Given the description of an element on the screen output the (x, y) to click on. 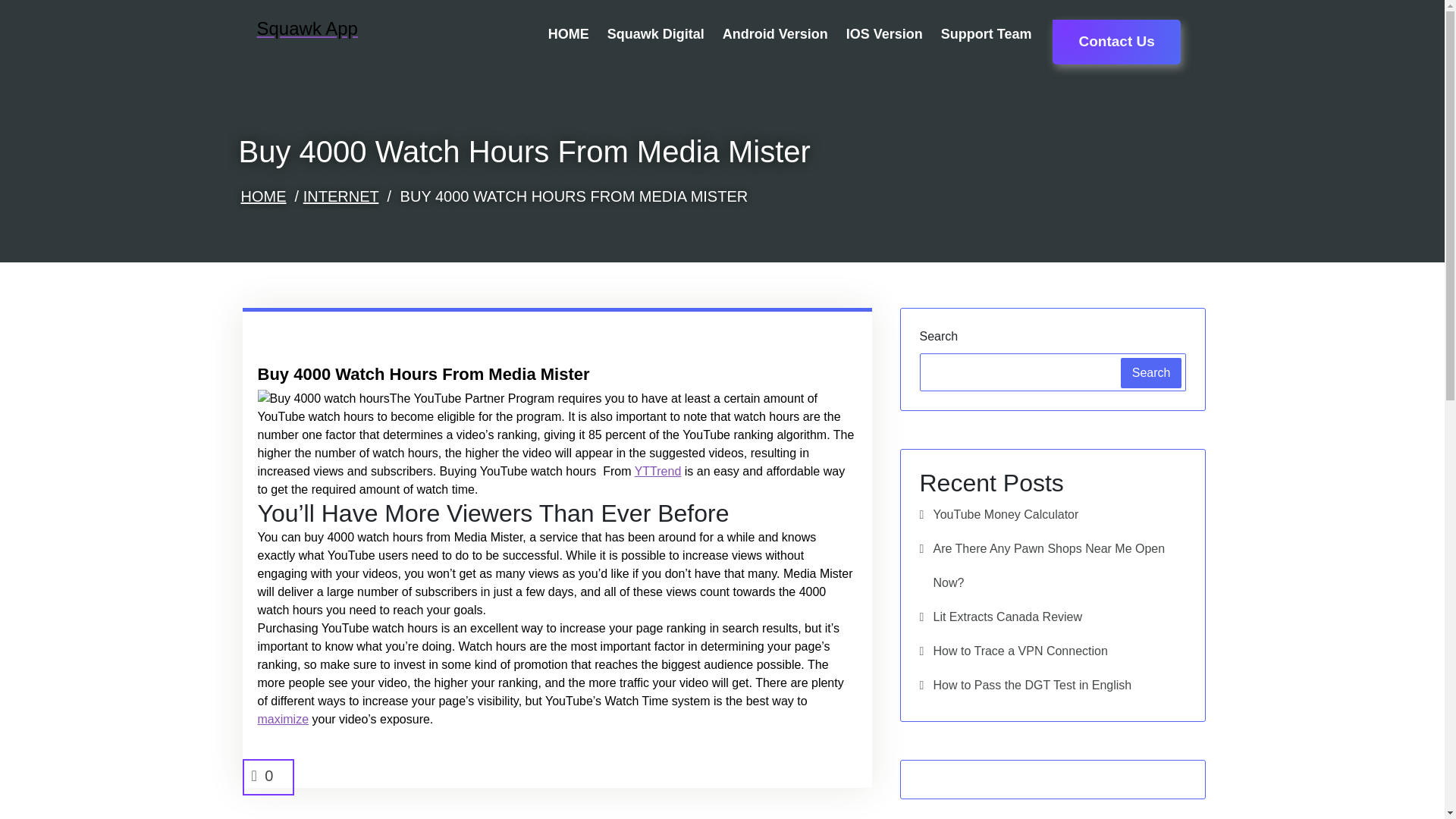
0 (268, 775)
INTERNET (340, 196)
Support Team (986, 34)
Contact Us (1115, 41)
maximize (282, 718)
Squawk App (297, 29)
YTTrend (657, 471)
How to Trace a VPN Connection (1012, 650)
Lit Extracts Canada Review (999, 616)
YouTube Money Calculator (998, 514)
HOME (263, 196)
Android Version (775, 34)
Are There Any Pawn Shops Near Me Open Now? (1052, 565)
Squawk Digital (655, 34)
Search (1151, 372)
